Given the description of an element on the screen output the (x, y) to click on. 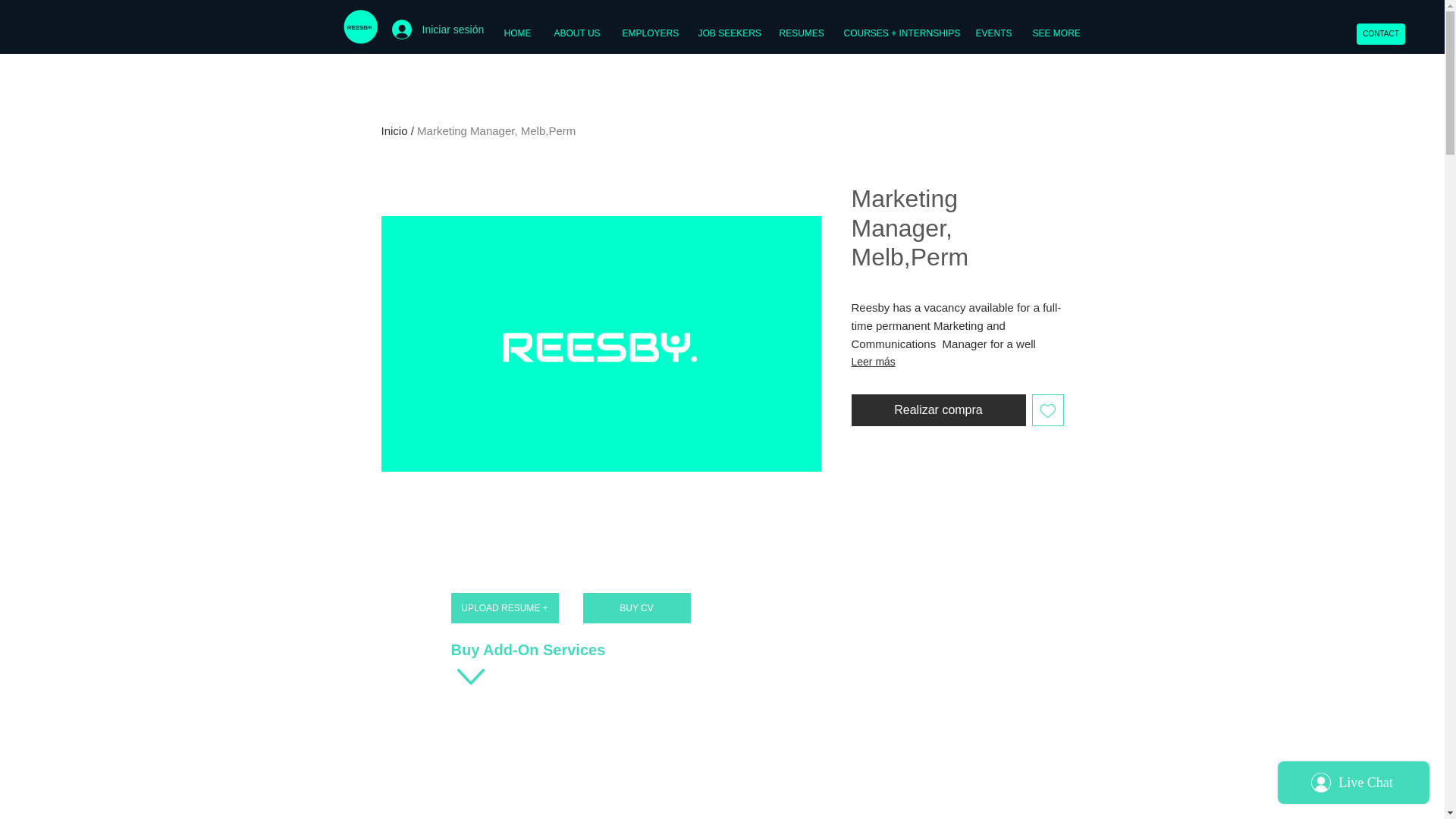
ABOUT US (577, 33)
HOME (517, 33)
Smile.io Rewards Program Launcher (69, 780)
RESUMES (799, 33)
CONTACT (1380, 34)
